Given the description of an element on the screen output the (x, y) to click on. 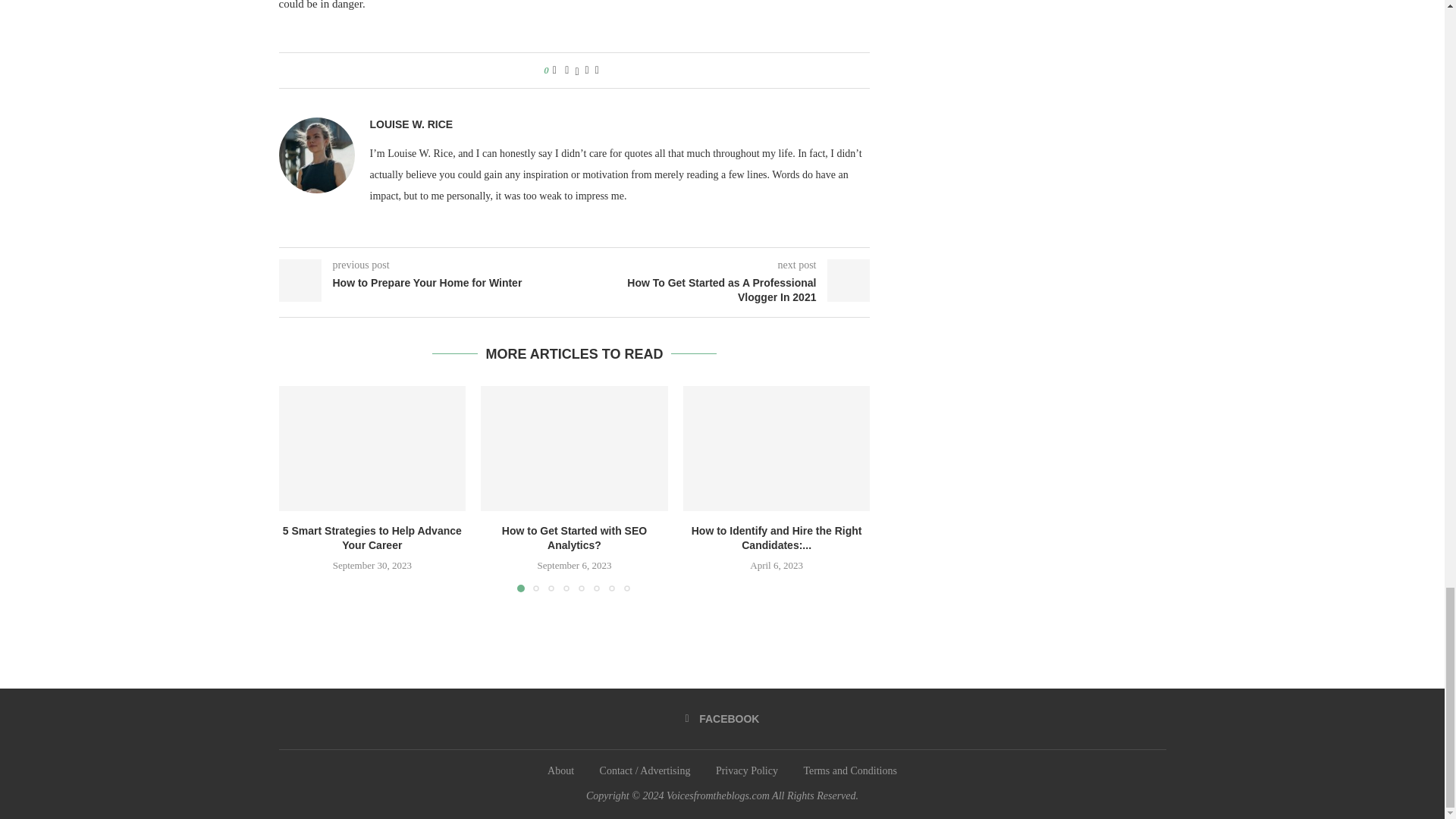
How to Get Started with SEO Analytics? (574, 447)
5 Smart Strategies to Help Advance Your Career (372, 447)
Author Louise W. Rice (410, 124)
Like (554, 70)
How to Identify and Hire the Right Candidates: 9 Tips (776, 447)
